Given the description of an element on the screen output the (x, y) to click on. 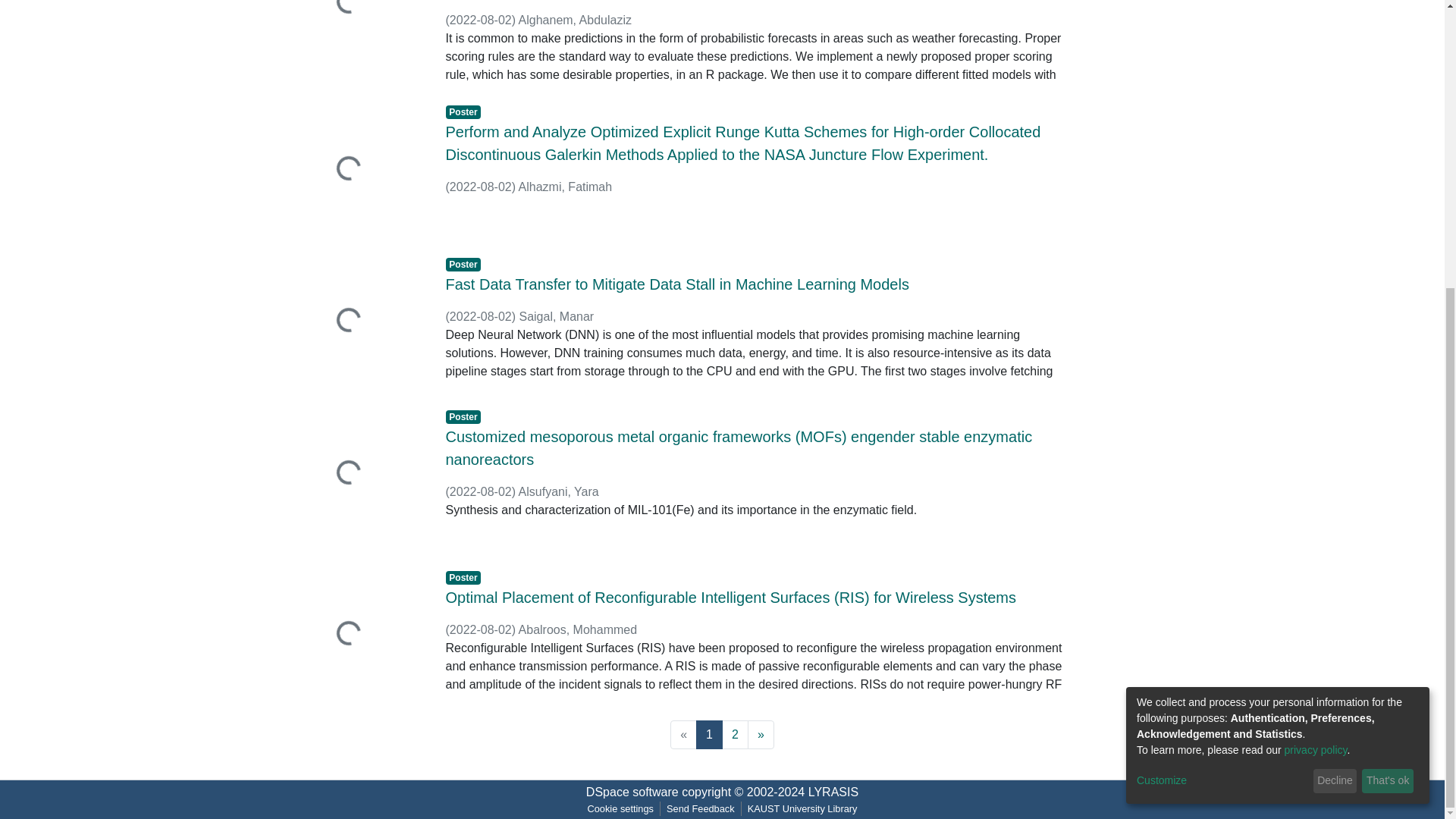
2 (735, 734)
Loading... (362, 321)
Loading... (362, 34)
DSpace software (632, 791)
Loading... (362, 474)
Loading... (362, 169)
Cookie settings (619, 808)
LYRASIS (833, 791)
Loading... (362, 634)
